Given the description of an element on the screen output the (x, y) to click on. 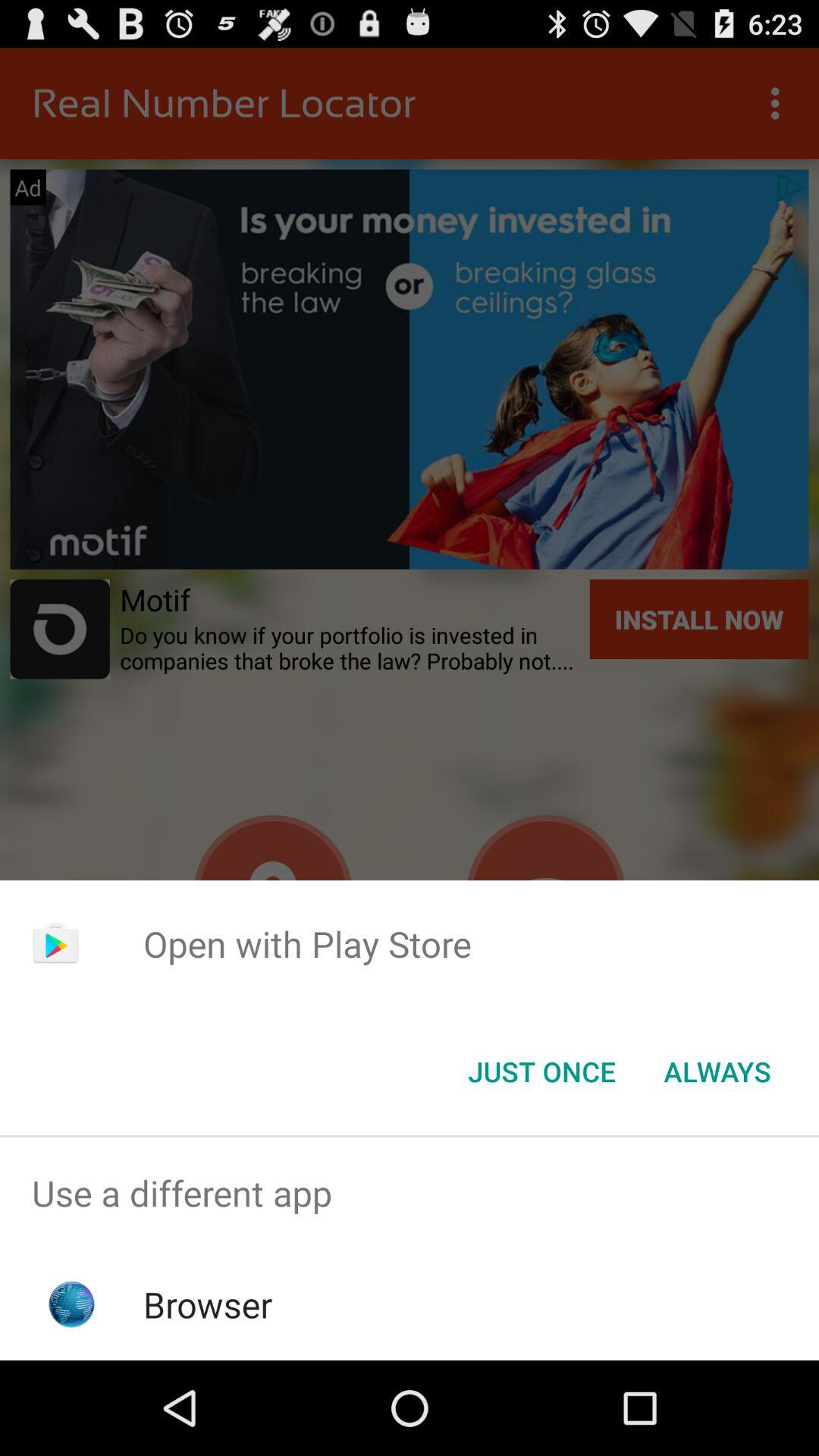
launch item to the right of just once item (717, 1071)
